Given the description of an element on the screen output the (x, y) to click on. 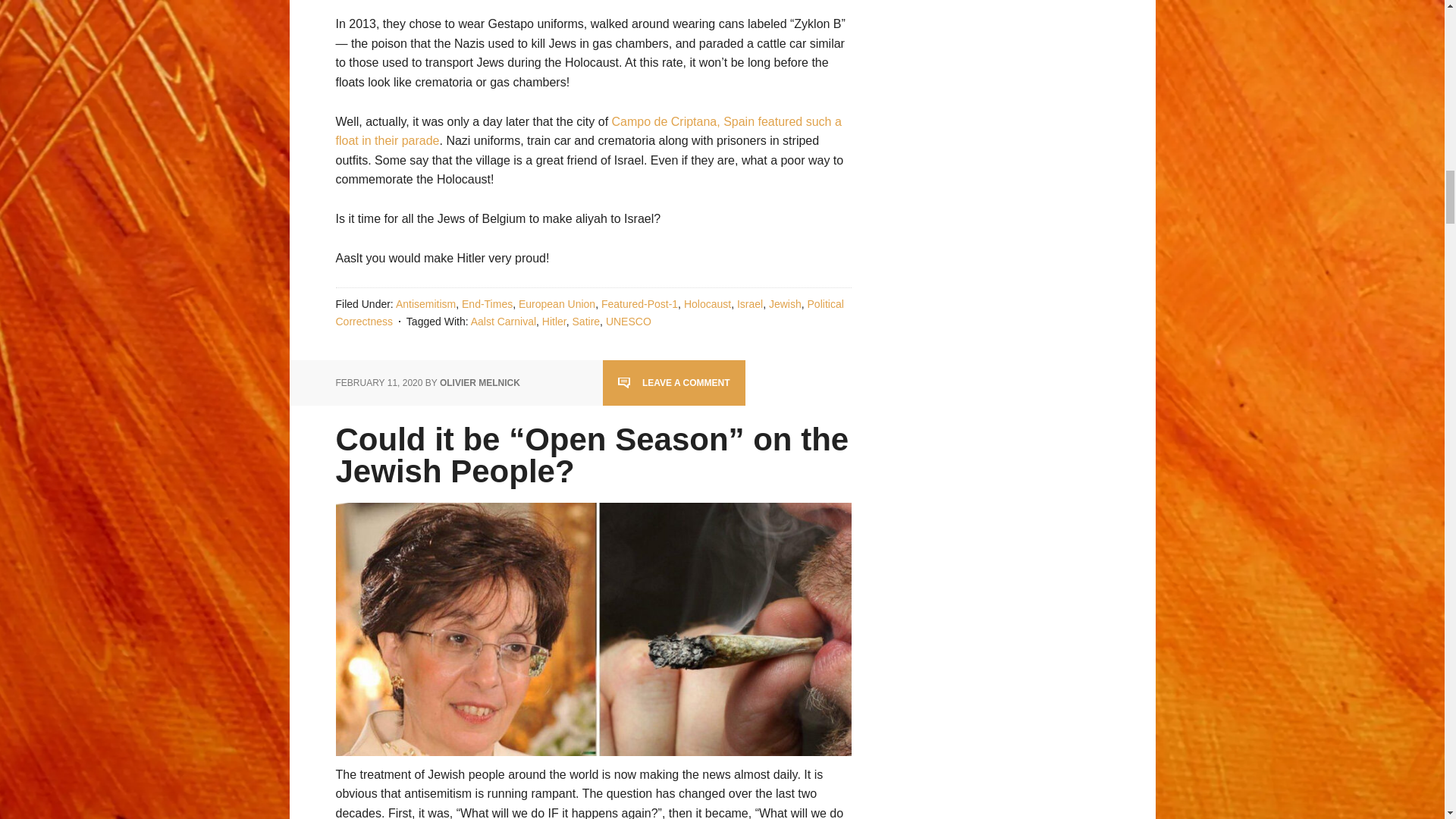
Political Correctness (588, 312)
Aalst Carnival (502, 321)
Israel (749, 304)
Jewish (785, 304)
European Union (556, 304)
Hitler (553, 321)
End-Times (486, 304)
Antisemitism (425, 304)
Satire (585, 321)
Featured-Post-1 (639, 304)
Holocaust (707, 304)
